Given the description of an element on the screen output the (x, y) to click on. 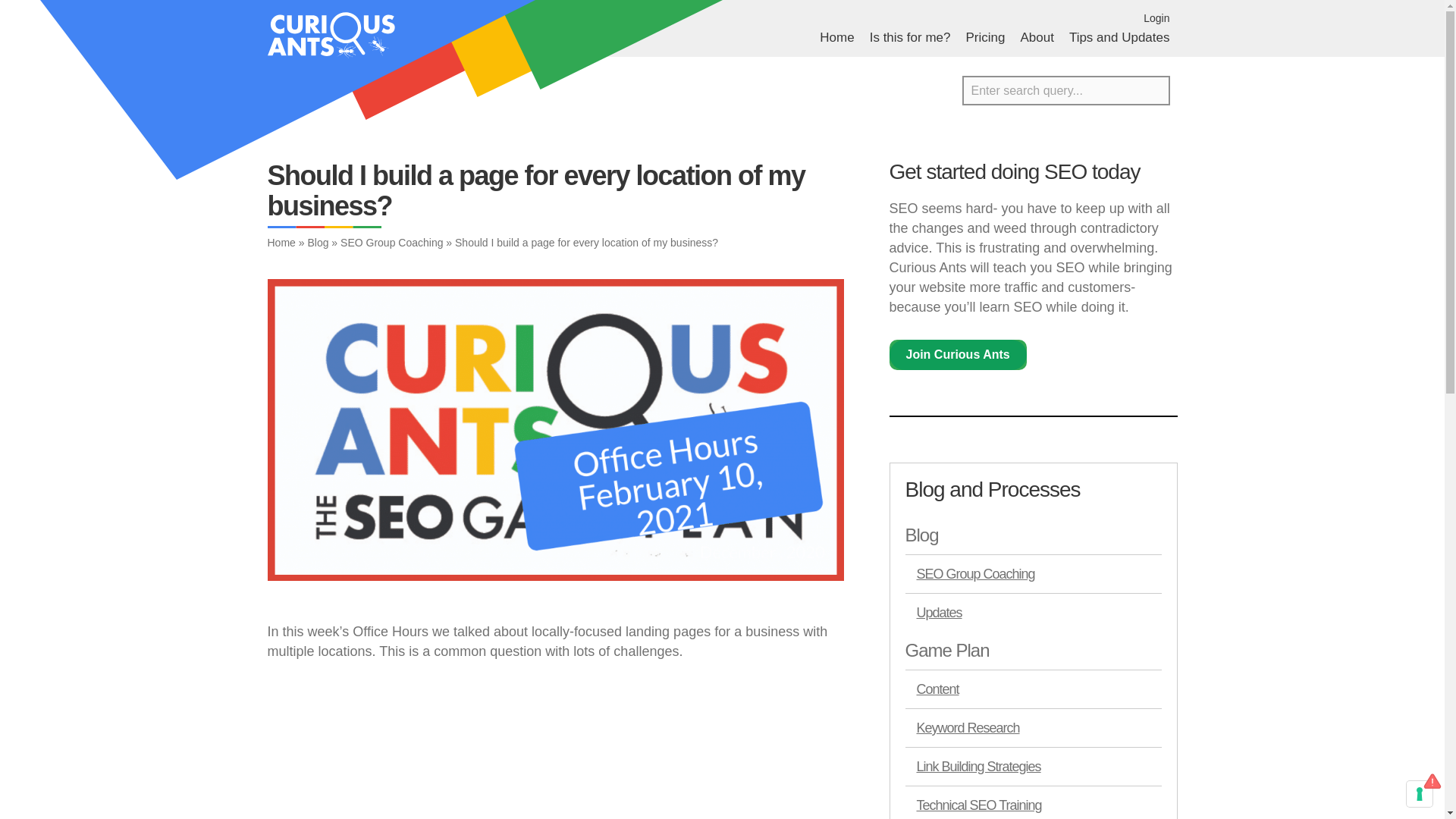
Home (280, 242)
About (1036, 37)
Join Curious Ants (957, 354)
SEO Group Coaching (391, 242)
Home (836, 37)
Pricing (984, 37)
Blog (318, 242)
Updates (1033, 611)
SEO Group Coaching (1033, 573)
Tips and Updates (1119, 37)
Blog (1033, 535)
Login (1155, 18)
Is this for me? (909, 37)
Should I build a page on my website for every location? (456, 751)
